Given the description of an element on the screen output the (x, y) to click on. 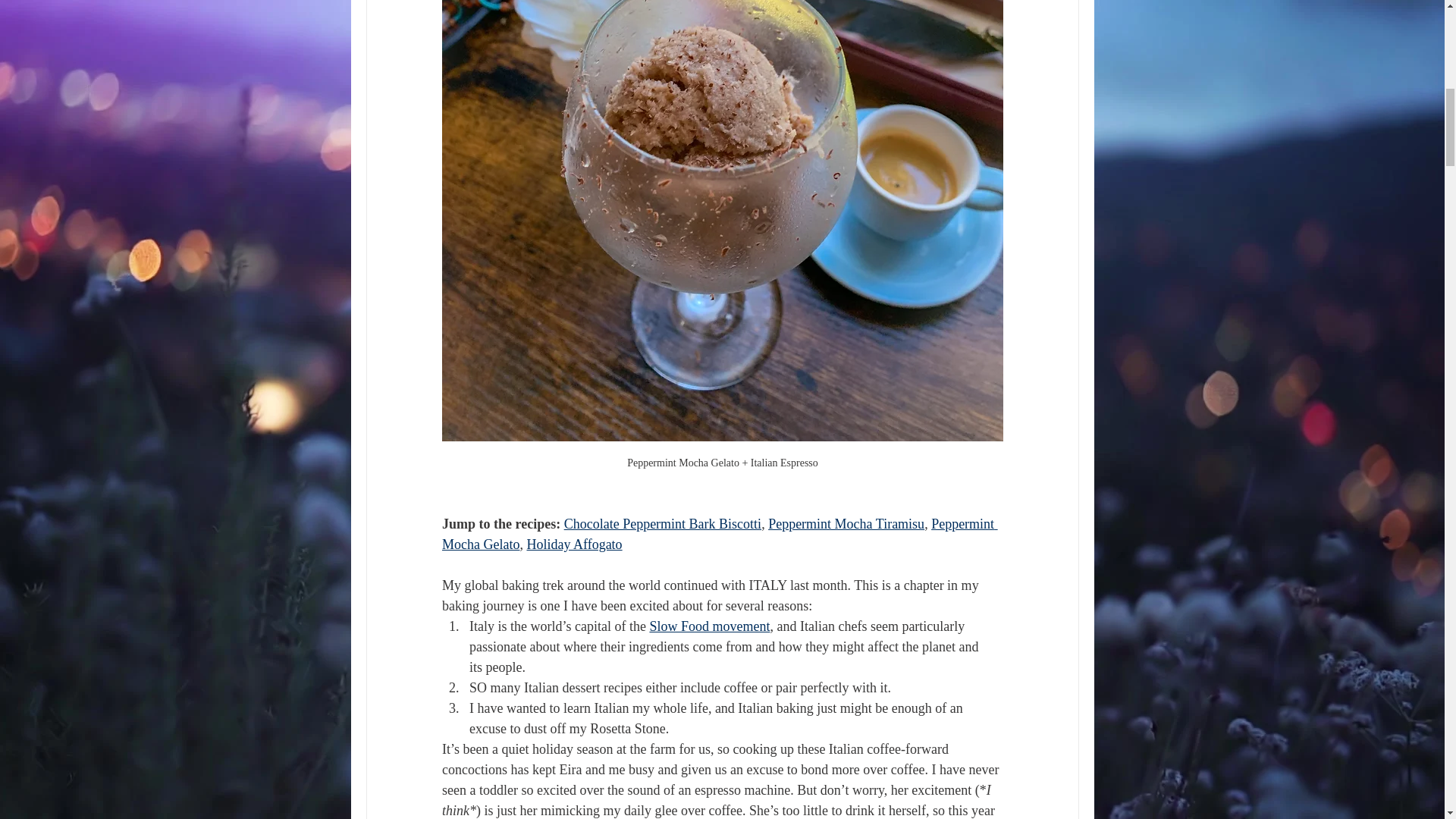
Peppermint Mocha Tiramisu (846, 523)
Chocolate Peppermint Bark Biscotti (661, 523)
Holiday Affogato (573, 544)
Peppermint Mocha Gelato (719, 534)
Slow Food movement (709, 626)
